Given the description of an element on the screen output the (x, y) to click on. 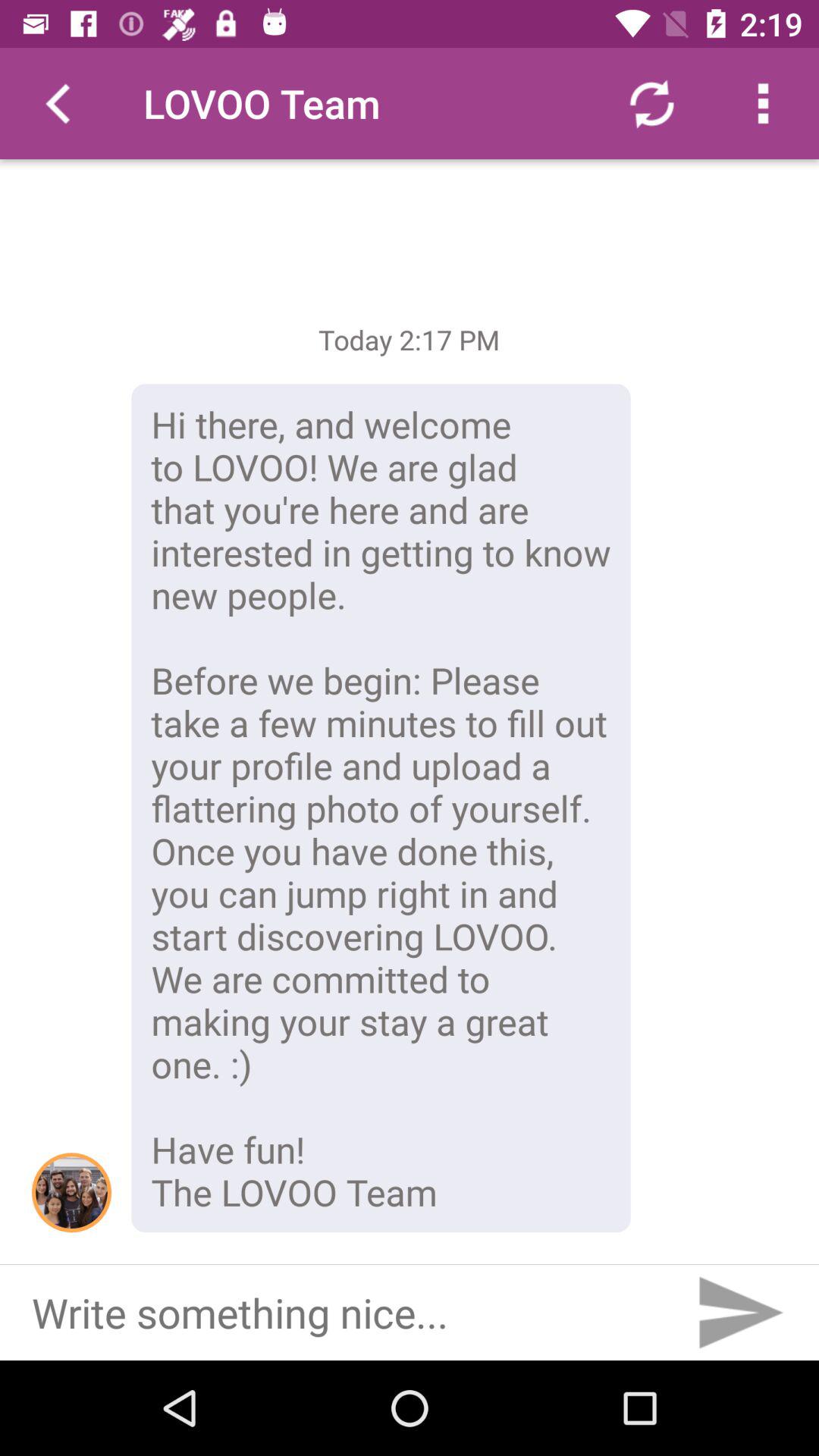
swipe until the hi there and item (380, 807)
